Given the description of an element on the screen output the (x, y) to click on. 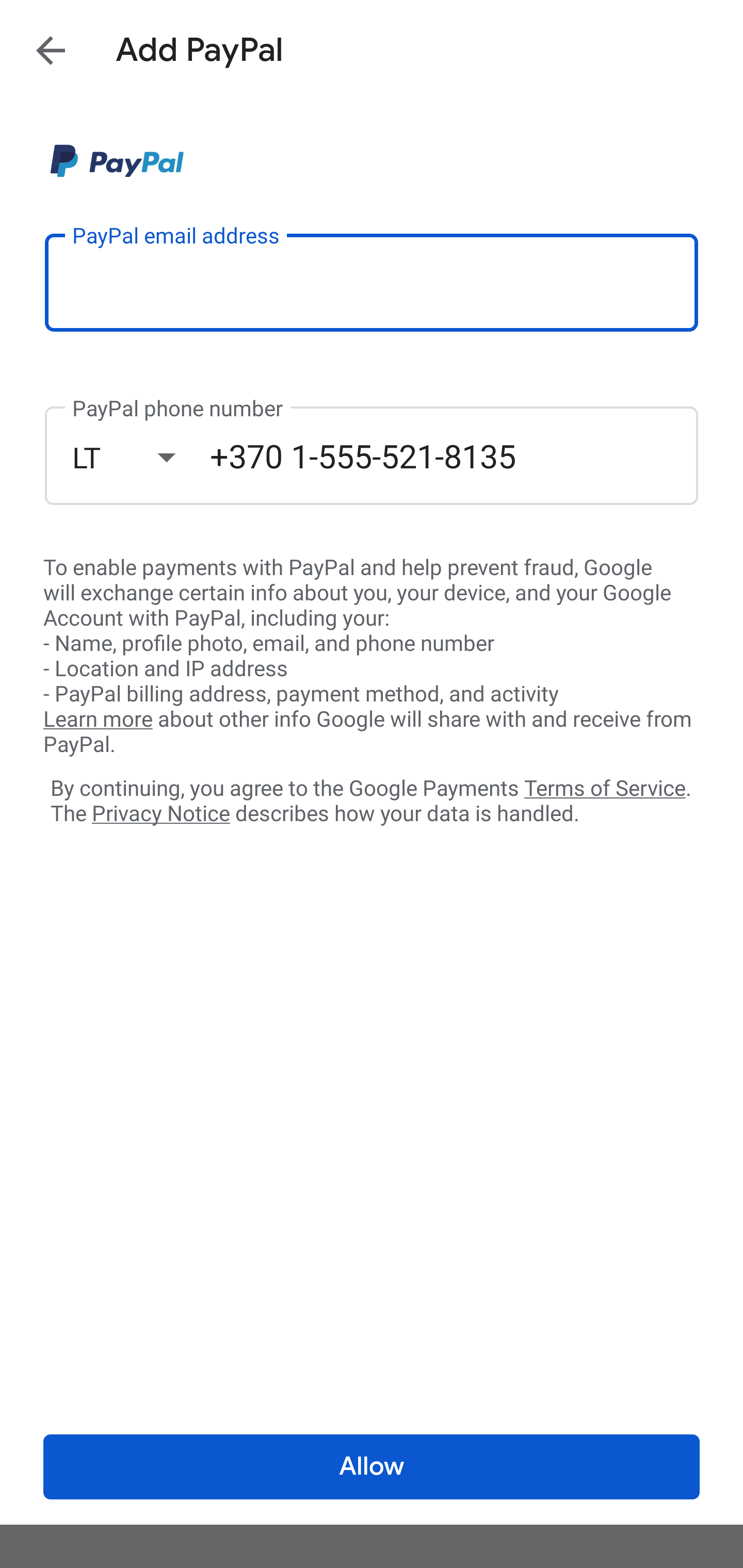
Navigate up (50, 50)
PayPal email address (371, 282)
LT (141, 456)
Learn more (97, 719)
Terms of Service (604, 787)
Privacy Notice (160, 814)
Allow (371, 1466)
